Given the description of an element on the screen output the (x, y) to click on. 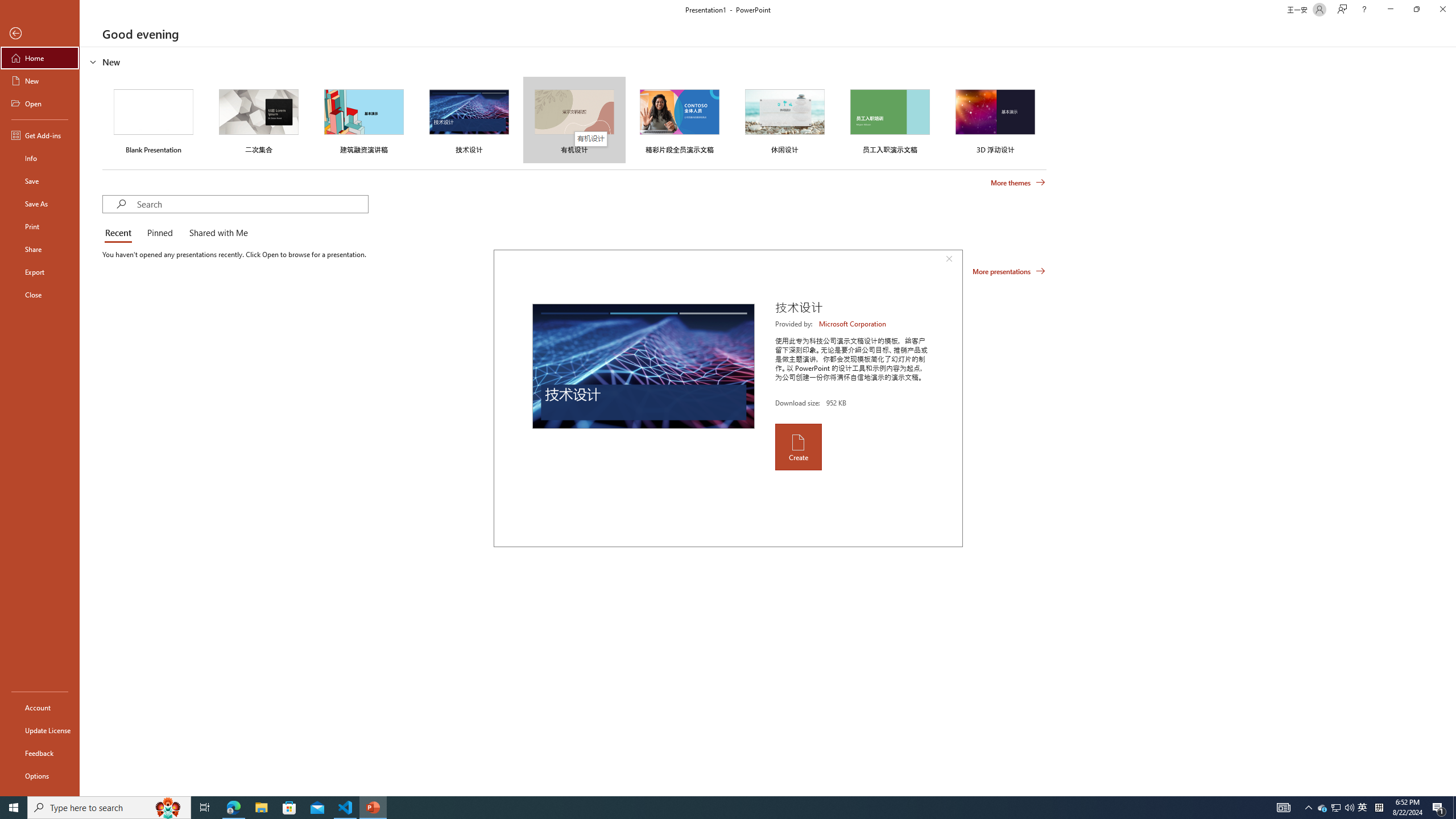
Print (40, 225)
Account (40, 707)
Back (40, 33)
More themes (1018, 182)
Options (40, 775)
Create (797, 446)
